Given the description of an element on the screen output the (x, y) to click on. 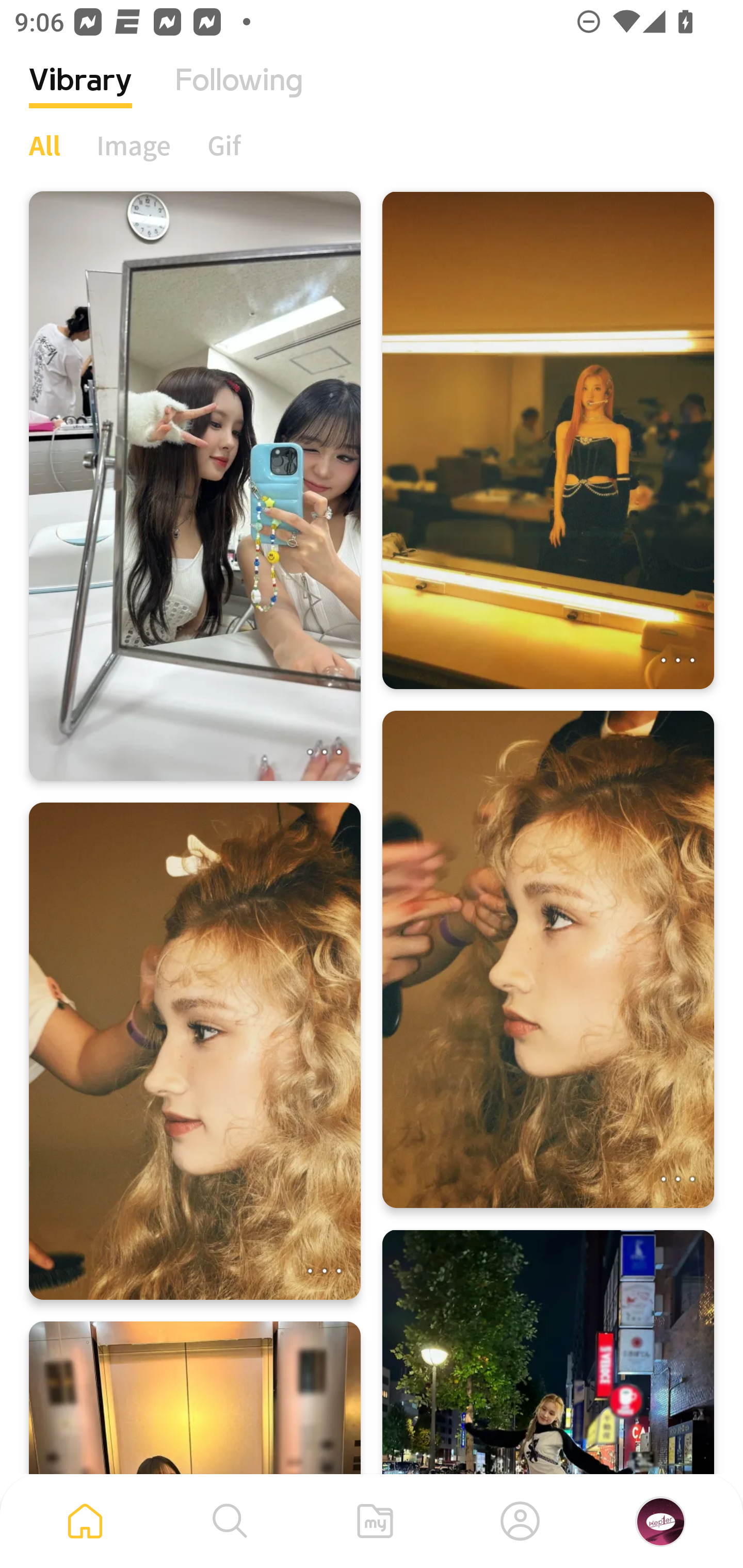
Vibrary (80, 95)
Following (239, 95)
All (44, 145)
Image (133, 145)
Gif (223, 145)
